Given the description of an element on the screen output the (x, y) to click on. 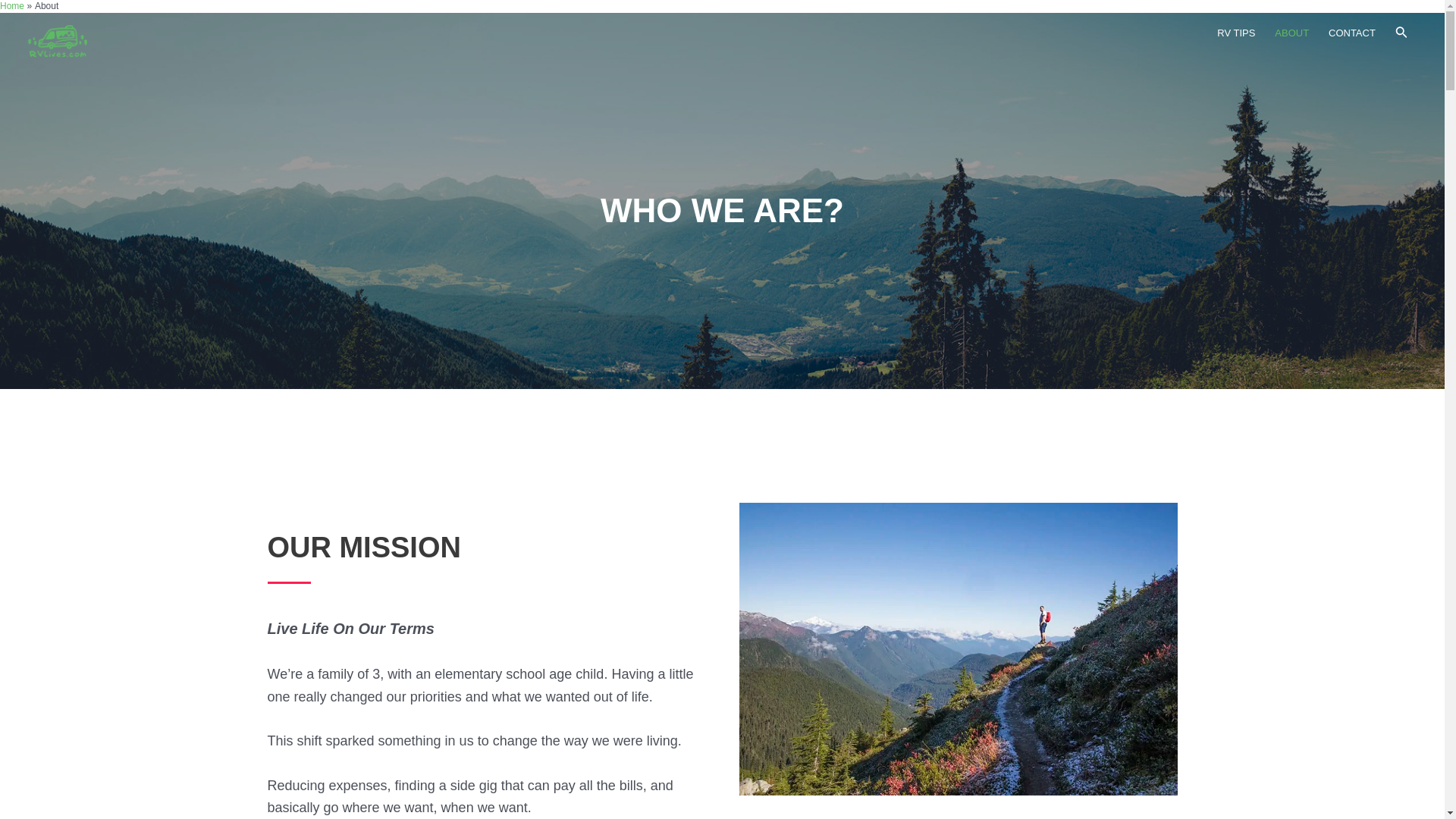
ABOUT (1292, 33)
RV TIPS (1236, 33)
Home (12, 5)
CONTACT (1352, 33)
